Given the description of an element on the screen output the (x, y) to click on. 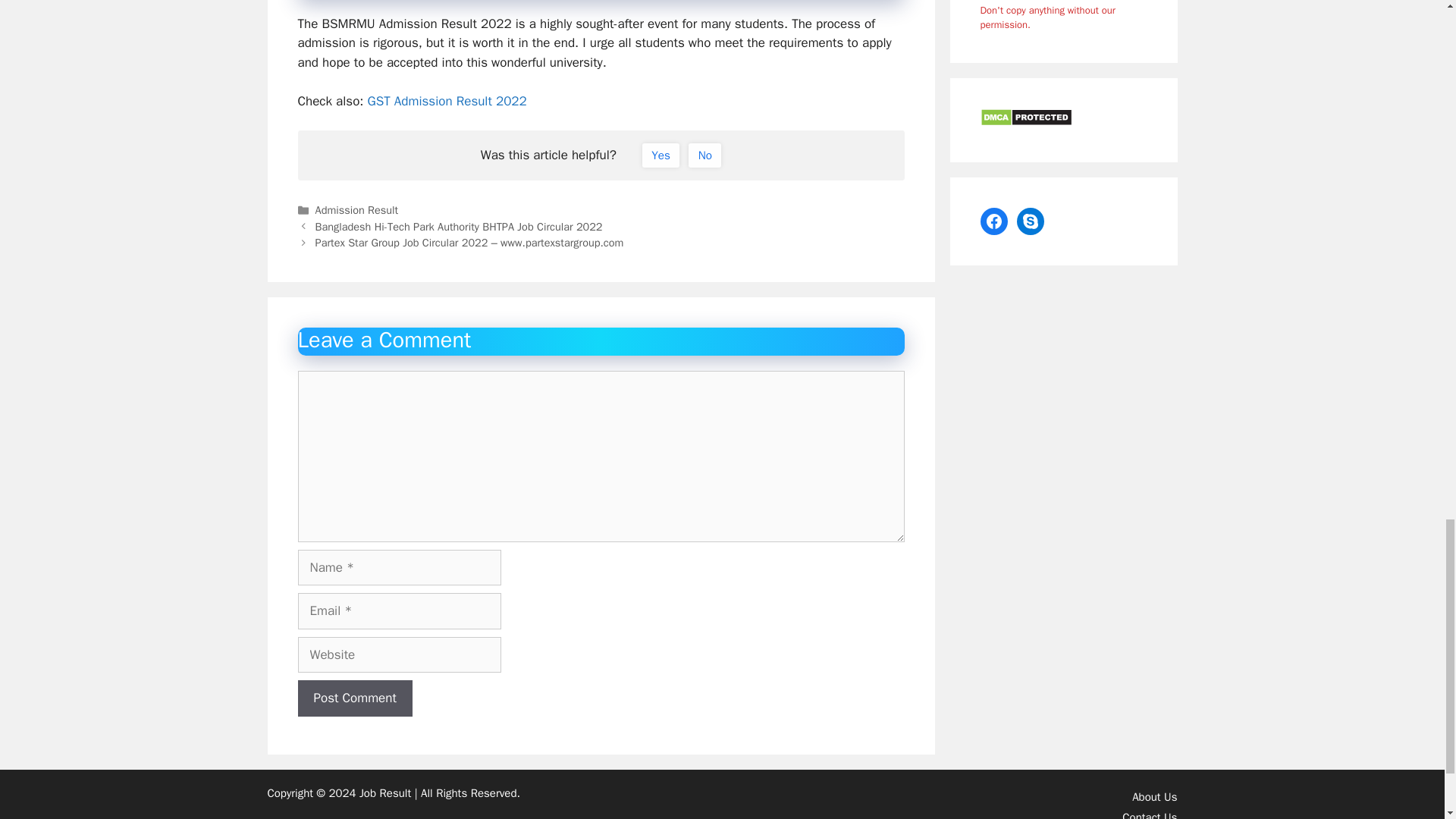
Bangladesh Hi-Tech Park Authority BHTPA Job Circular 2022 (458, 226)
GST Admission Result 2022 (447, 100)
Post Comment (354, 698)
DMCA.com Protection Status (1025, 121)
Post Comment (354, 698)
Admission Result (356, 210)
